Given the description of an element on the screen output the (x, y) to click on. 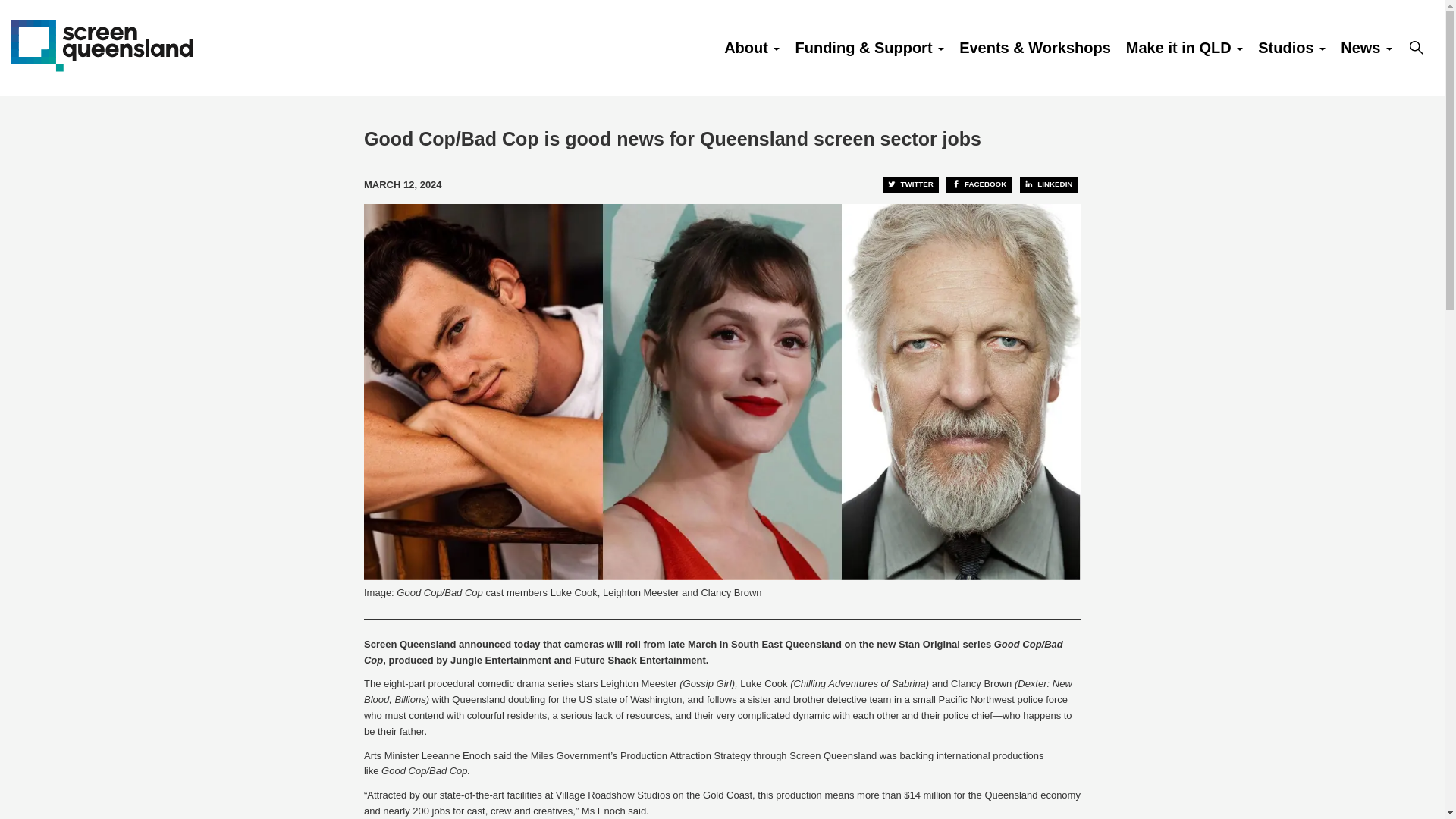
screen queensland (102, 43)
About (751, 47)
About (751, 47)
Make it in QLD (1184, 47)
